Given the description of an element on the screen output the (x, y) to click on. 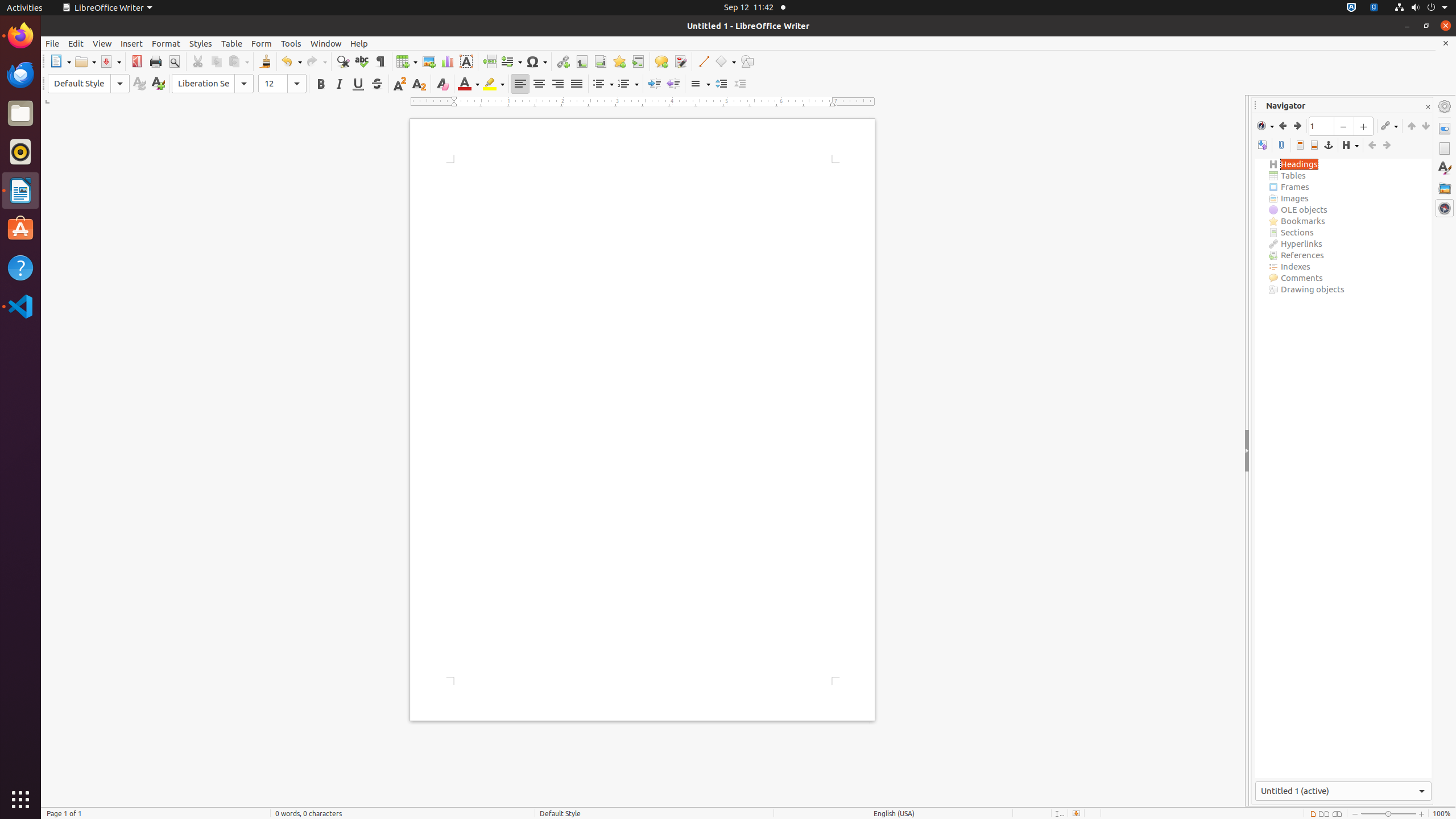
Redo Element type: push-button (315, 61)
Draw Functions Element type: push-button (746, 61)
Clone Element type: push-button (264, 61)
Undo Element type: push-button (290, 61)
Chart Element type: push-button (446, 61)
